Given the description of an element on the screen output the (x, y) to click on. 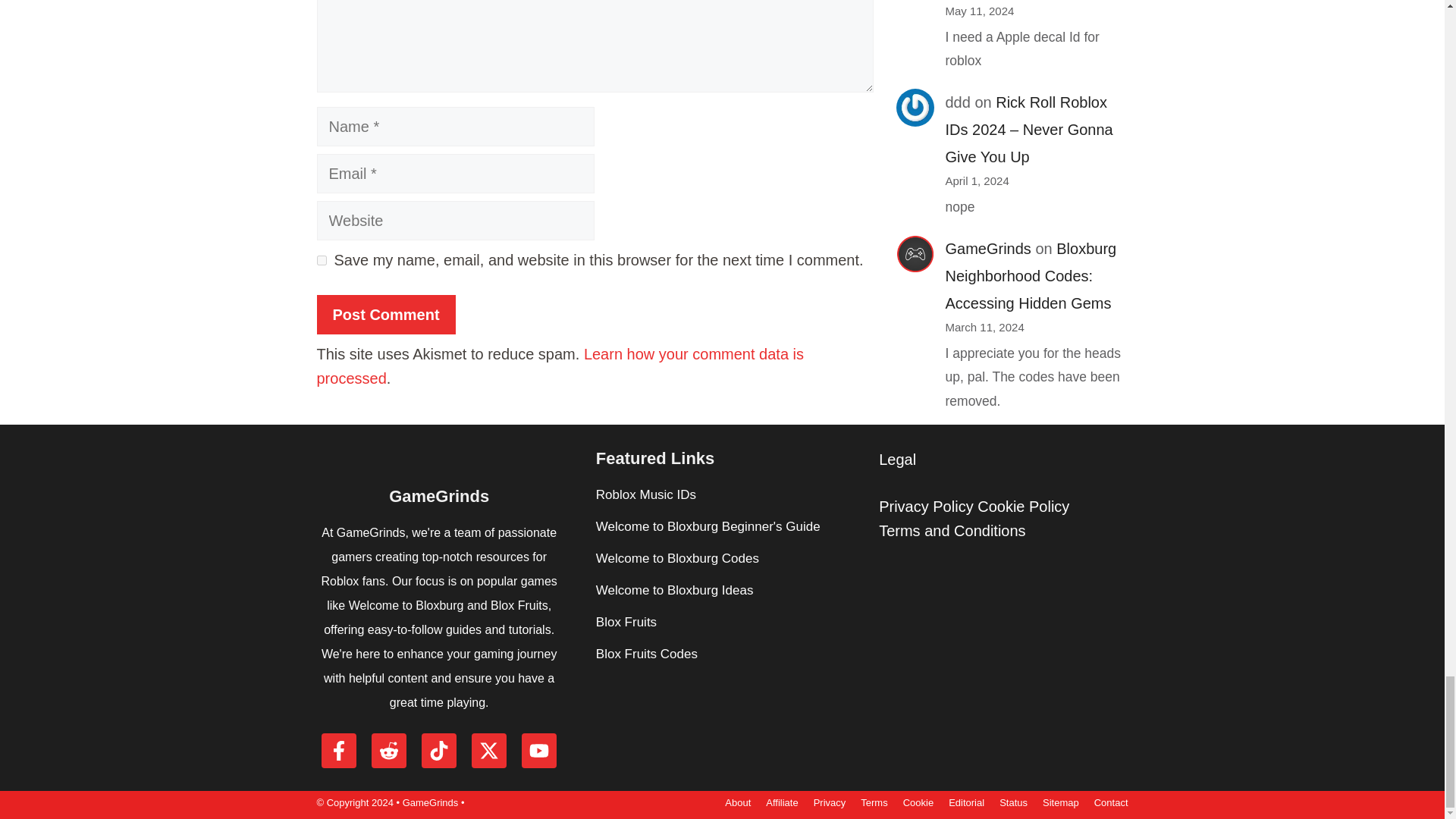
yes (321, 260)
Post Comment (386, 314)
